Given the description of an element on the screen output the (x, y) to click on. 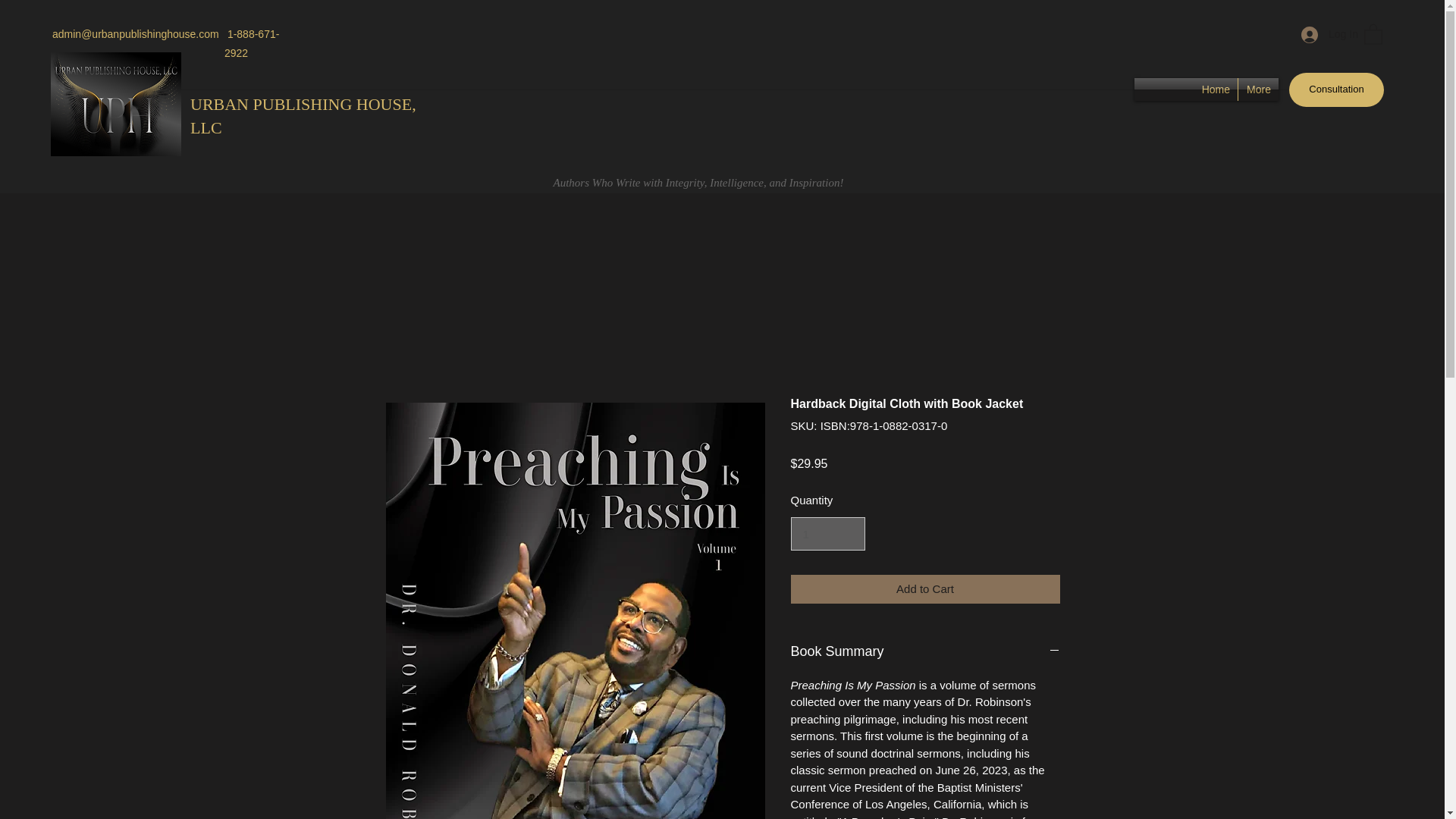
Add to Cart (924, 589)
1 (827, 533)
Consultation (1336, 89)
URBAN PUBLISHING HOUSE, LLC (303, 116)
Home (1215, 88)
Book Summary (924, 651)
Log In (1324, 34)
